Given the description of an element on the screen output the (x, y) to click on. 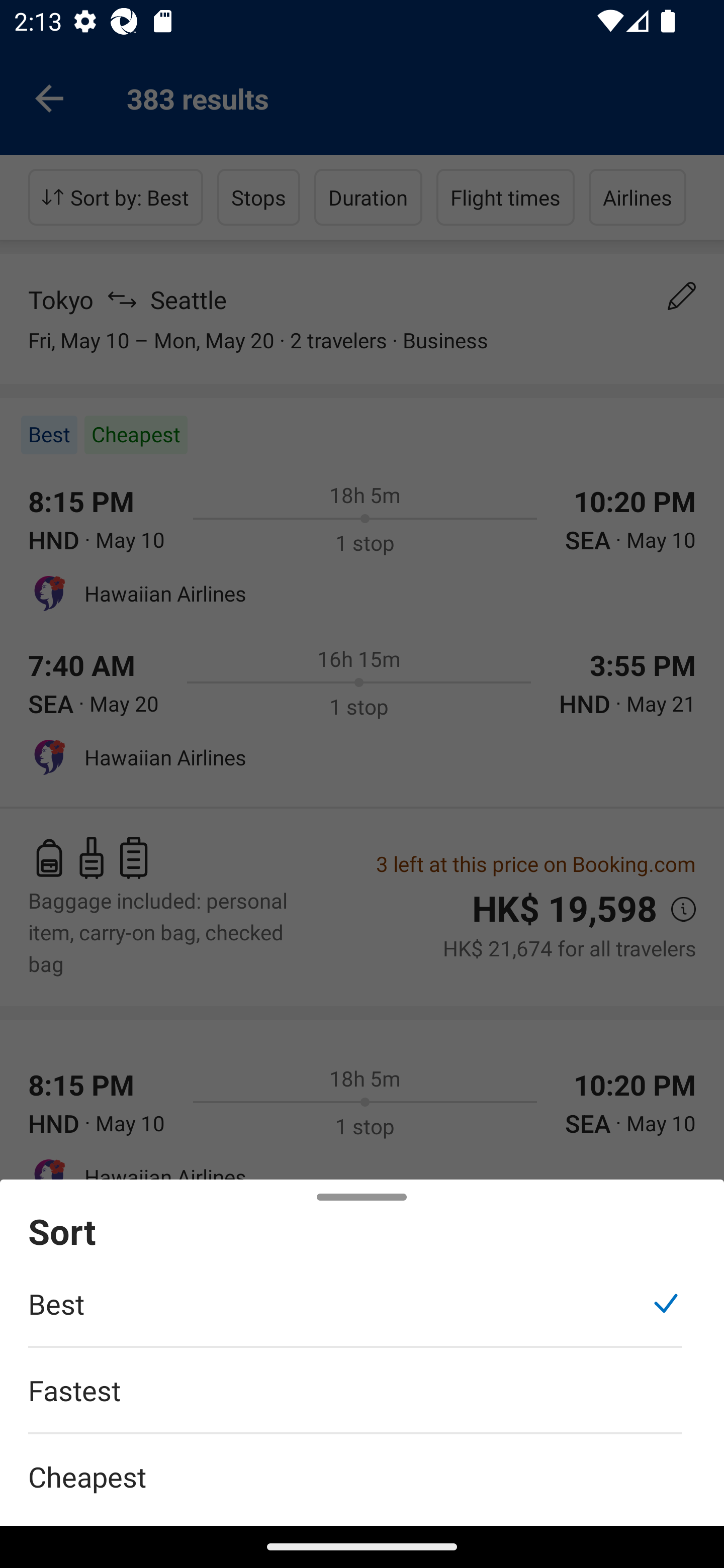
Best (355, 1313)
Fastest (355, 1399)
Cheapest (362, 1465)
